Given the description of an element on the screen output the (x, y) to click on. 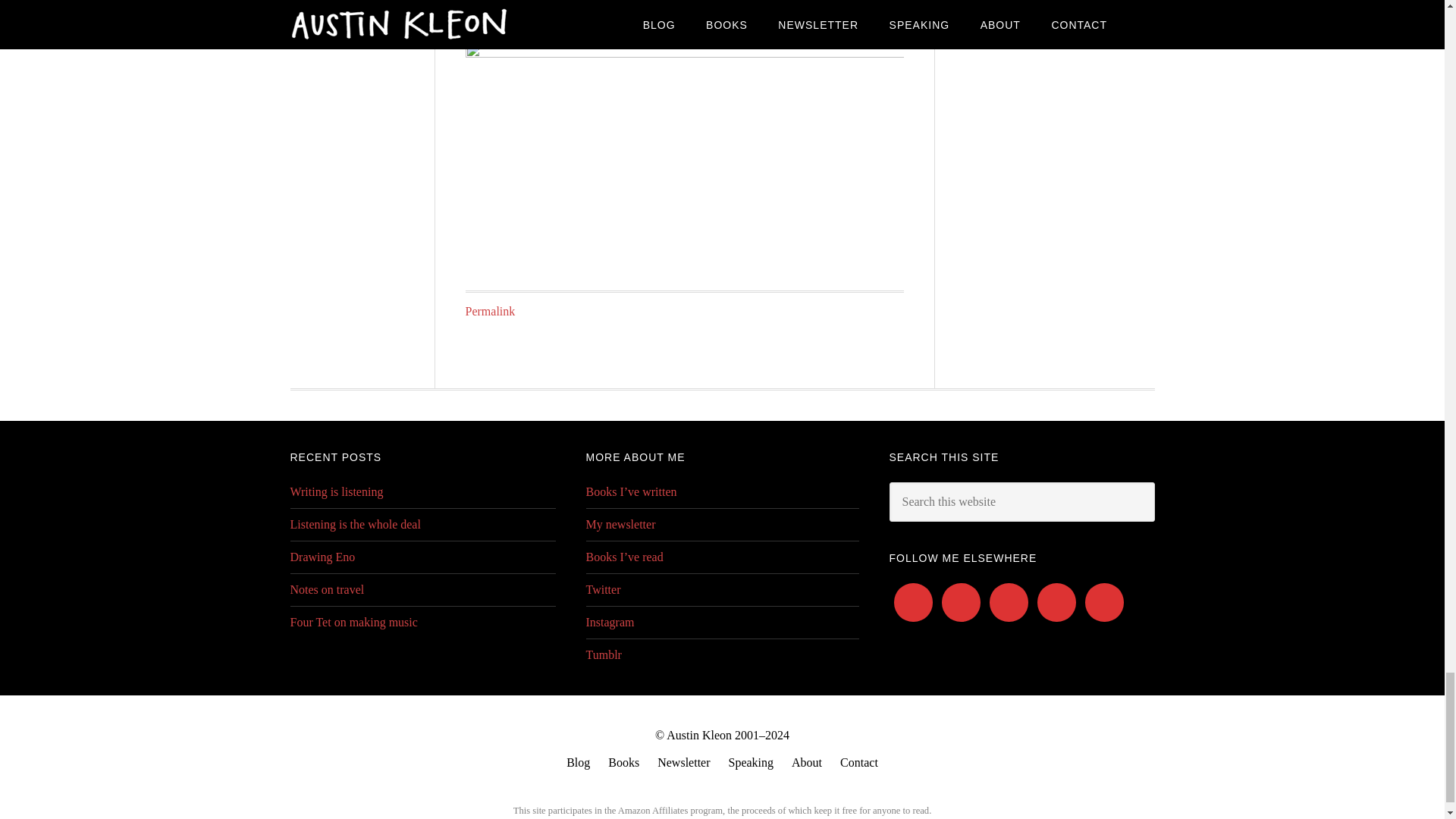
Owen (672, 11)
Permalink (490, 310)
Read my books (623, 762)
